Given the description of an element on the screen output the (x, y) to click on. 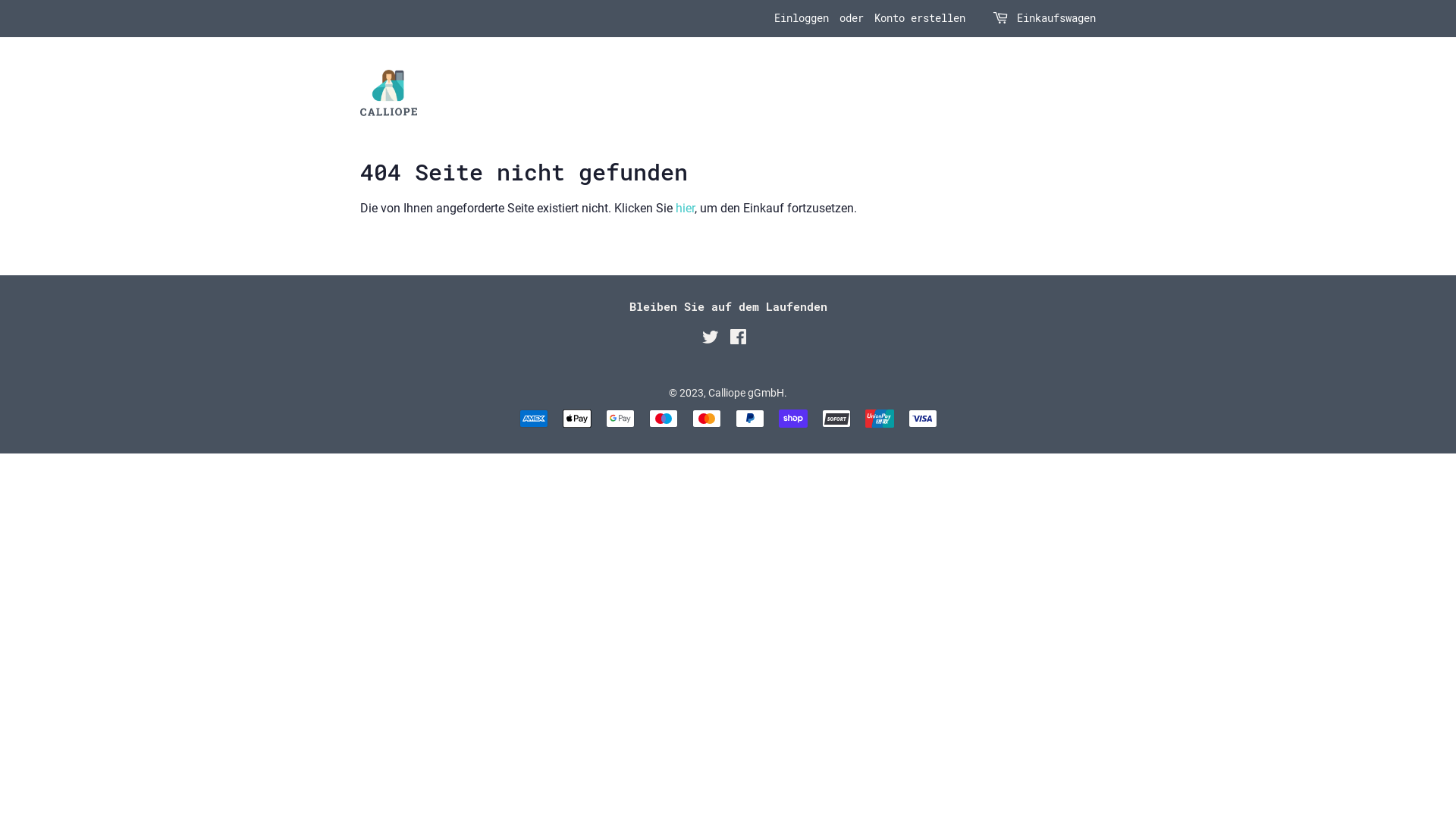
Facebook Element type: text (737, 339)
hier Element type: text (684, 207)
Einkaufswagen Element type: text (1055, 18)
Calliope gGmbH Element type: text (746, 392)
Konto erstellen Element type: text (919, 18)
Einloggen Element type: text (801, 18)
Twitter Element type: text (710, 339)
